Given the description of an element on the screen output the (x, y) to click on. 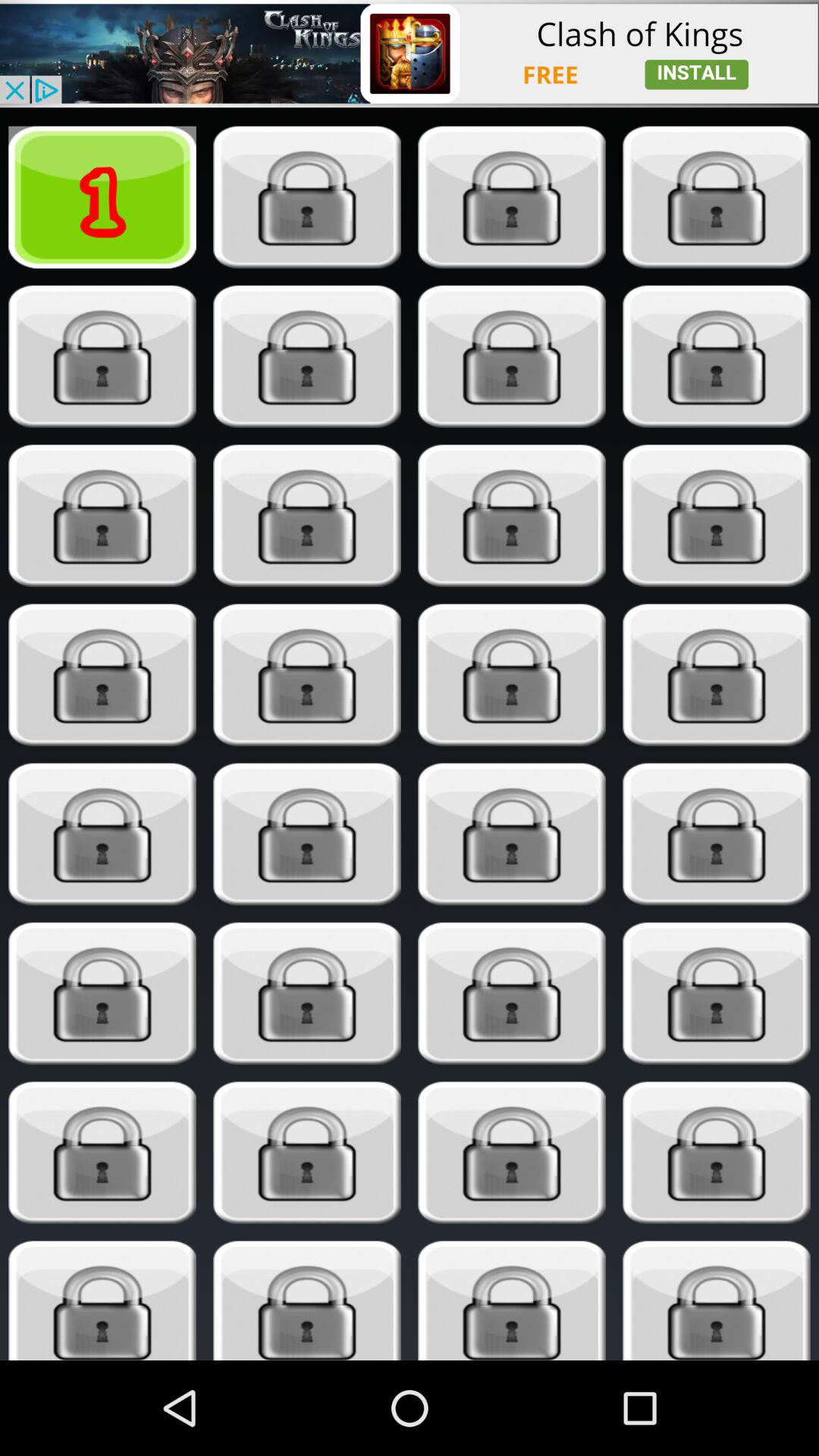
box (102, 834)
